Given the description of an element on the screen output the (x, y) to click on. 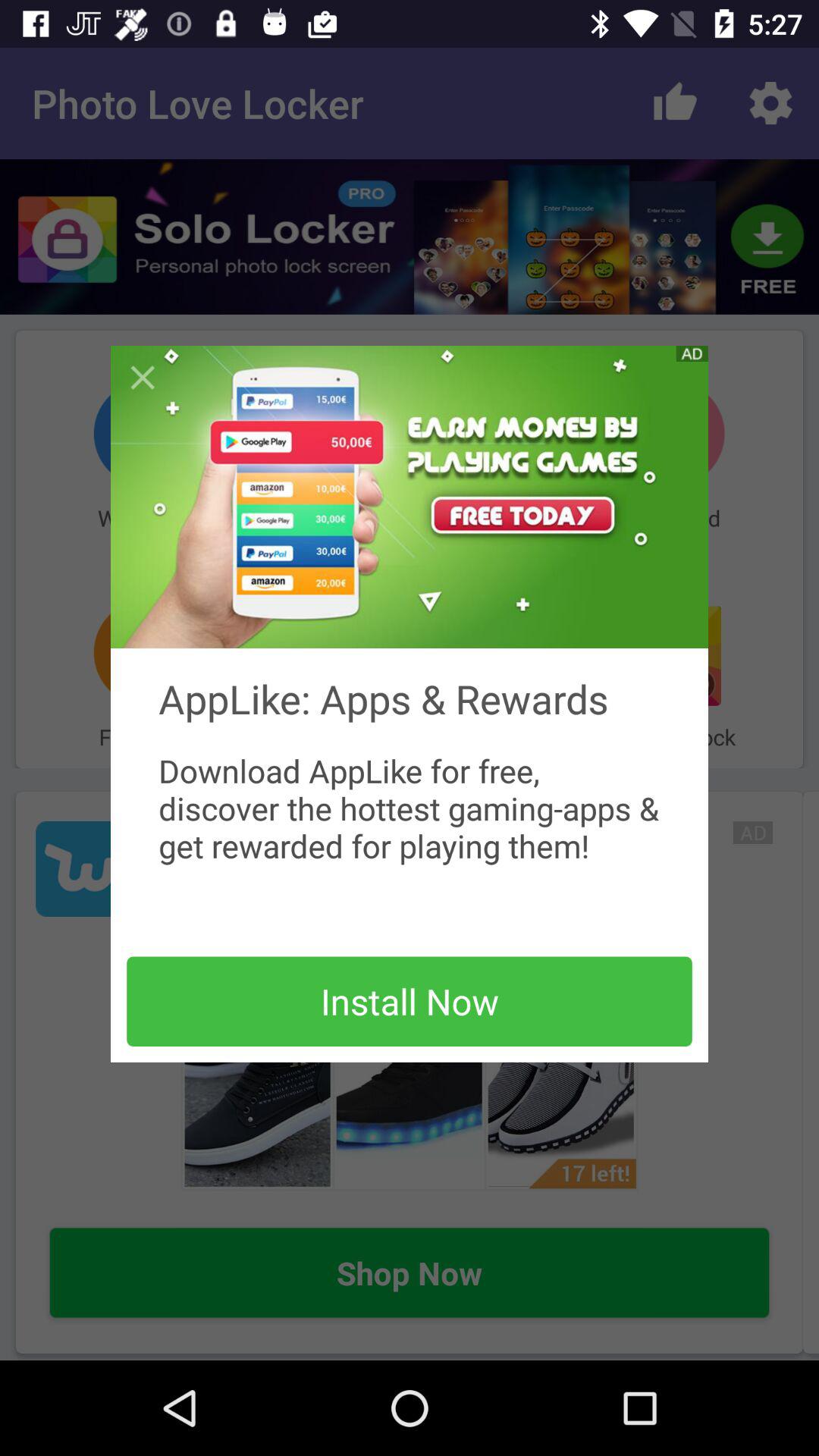
advertisement button (692, 353)
